Given the description of an element on the screen output the (x, y) to click on. 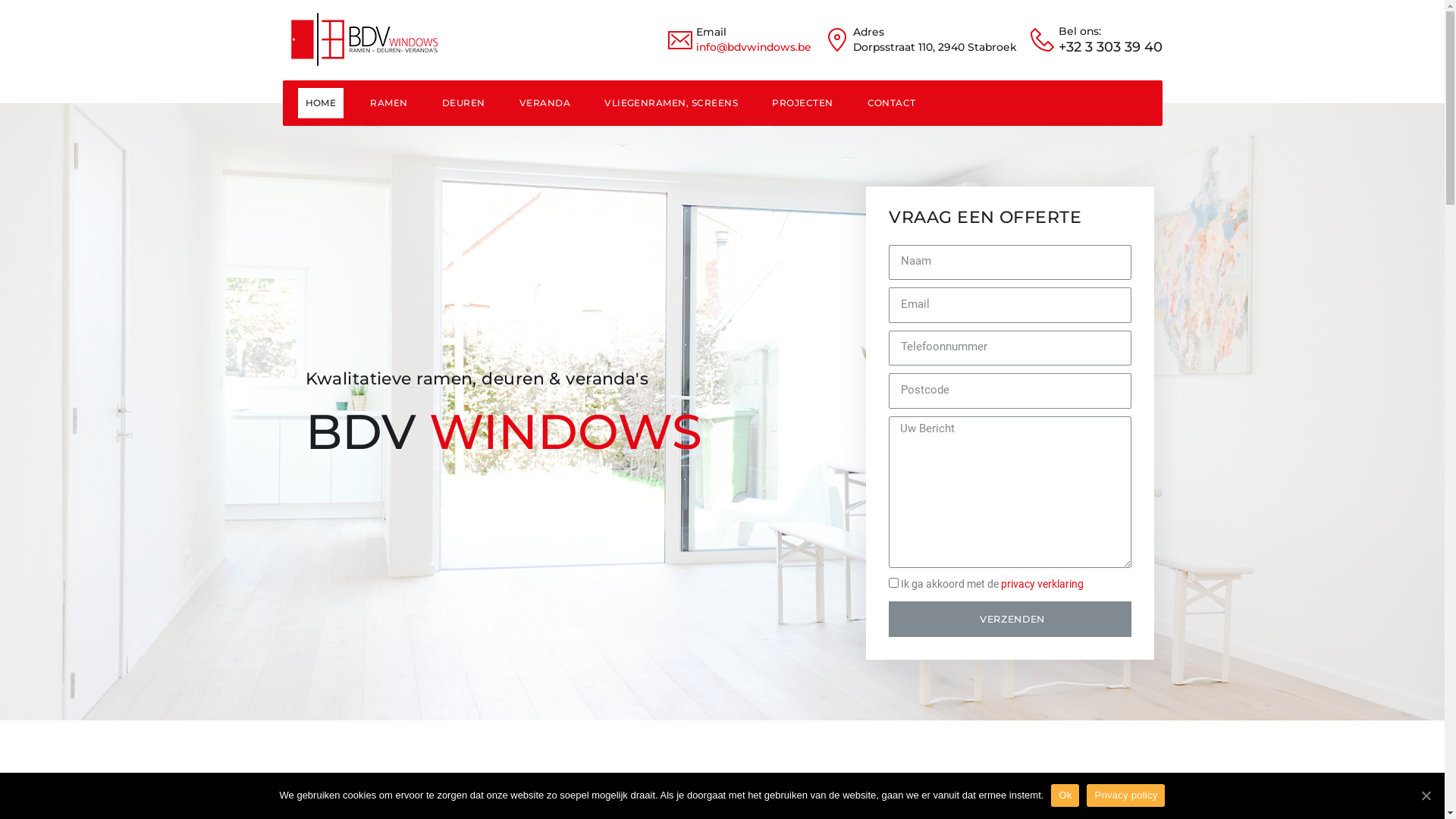
info@bdvwindows.be Element type: text (753, 46)
privacy verklaring Element type: text (1042, 583)
DEUREN Element type: text (463, 102)
HOME Element type: text (320, 102)
RAMEN Element type: text (388, 102)
CONTACT Element type: text (891, 102)
PROJECTEN Element type: text (802, 102)
VERANDA Element type: text (544, 102)
VERZENDEN Element type: text (1009, 619)
VLIEGENRAMEN, SCREENS Element type: text (670, 102)
+32 3 303 39 40 Element type: text (1110, 47)
Privacy policy Element type: text (1125, 795)
Ok Element type: text (1065, 795)
